Given the description of an element on the screen output the (x, y) to click on. 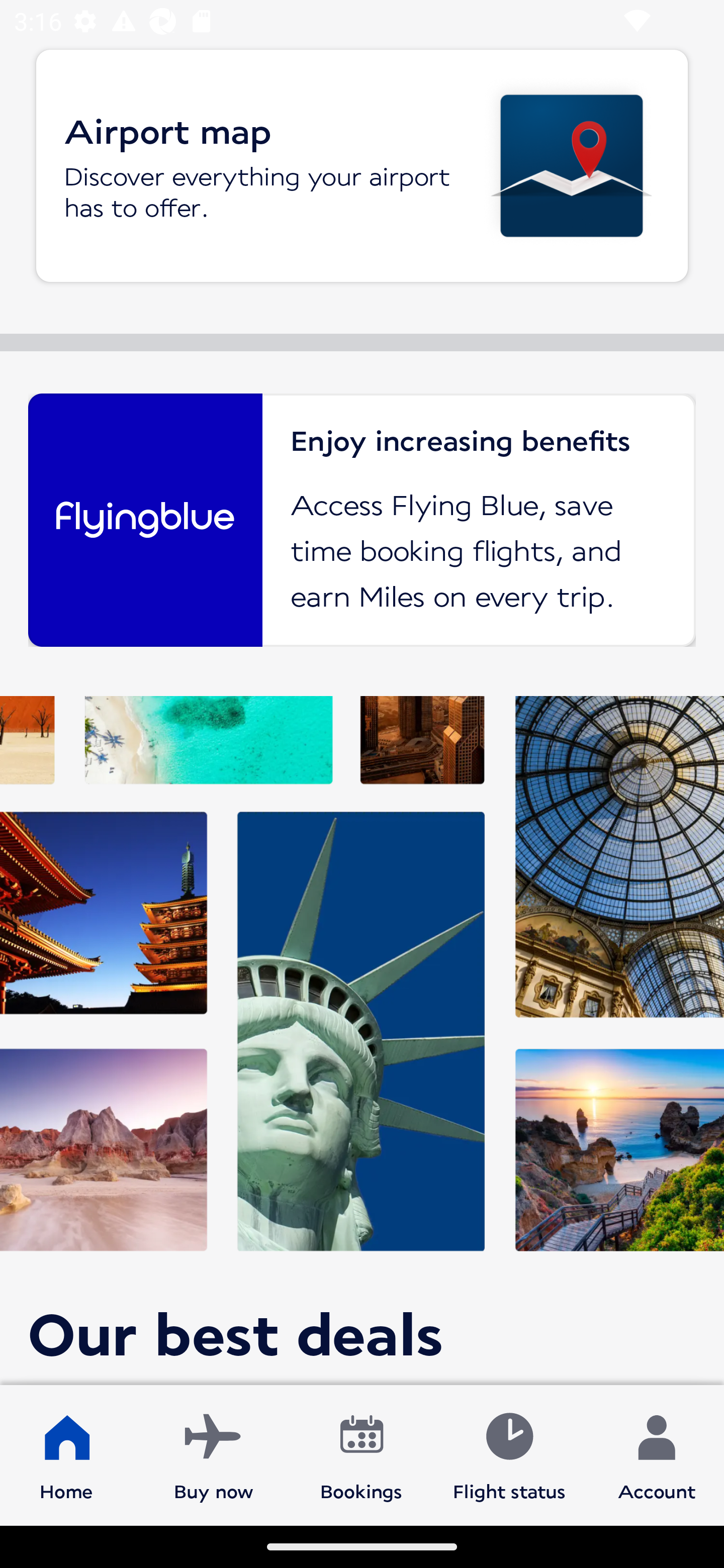
Our best deals (362, 1040)
Buy now (213, 1454)
Bookings (361, 1454)
Flight status (509, 1454)
Account (657, 1454)
